Given the description of an element on the screen output the (x, y) to click on. 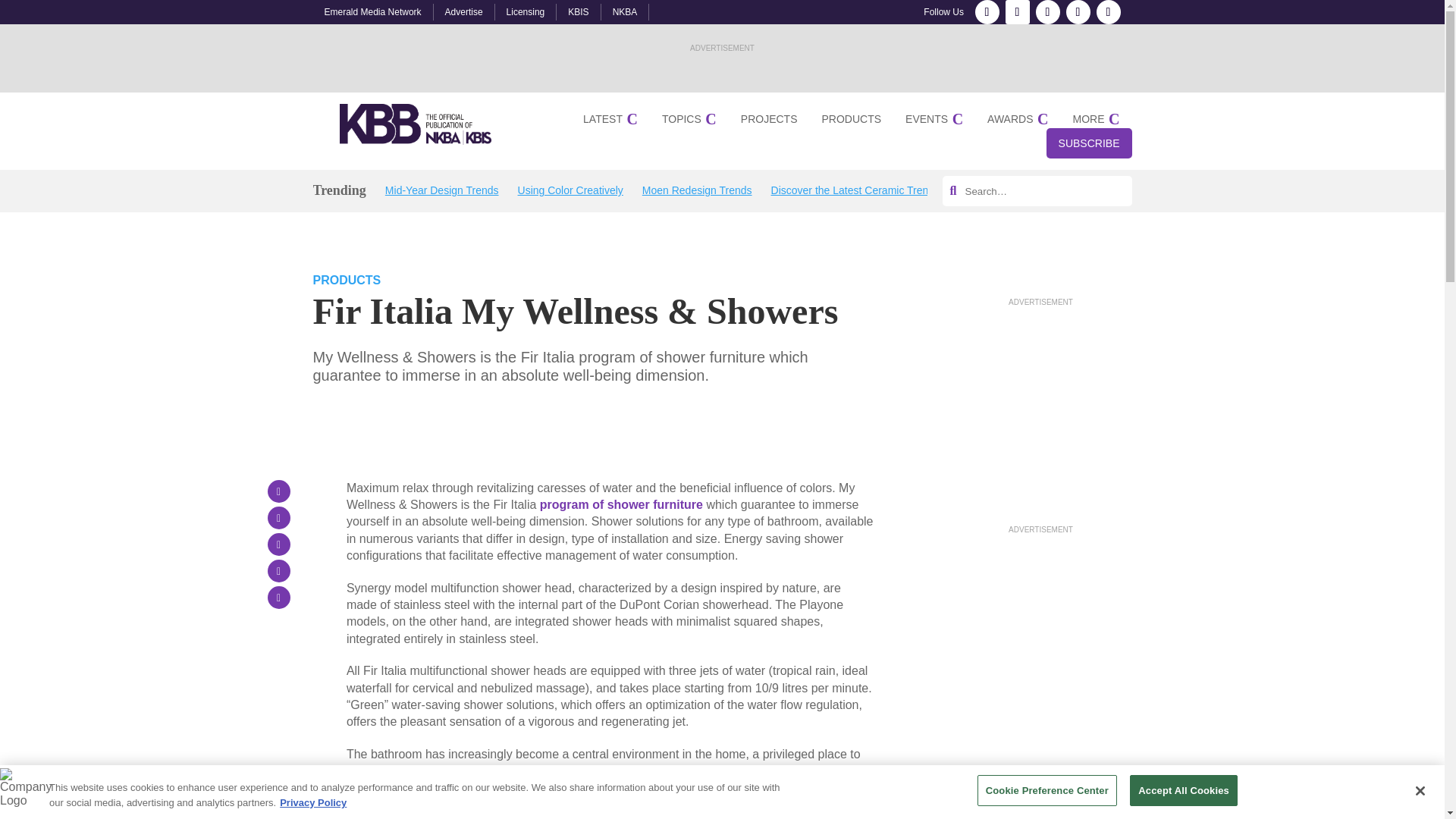
Follow on Youtube (1108, 12)
Licensing (525, 11)
LATEST (610, 118)
Follow on LinkedIn (1047, 12)
Follow on Facebook (986, 12)
Emerald Media Network (373, 11)
Advertise (464, 11)
KBIS (577, 11)
Follow on Instagram (1017, 12)
Follow on X (1077, 12)
